Given the description of an element on the screen output the (x, y) to click on. 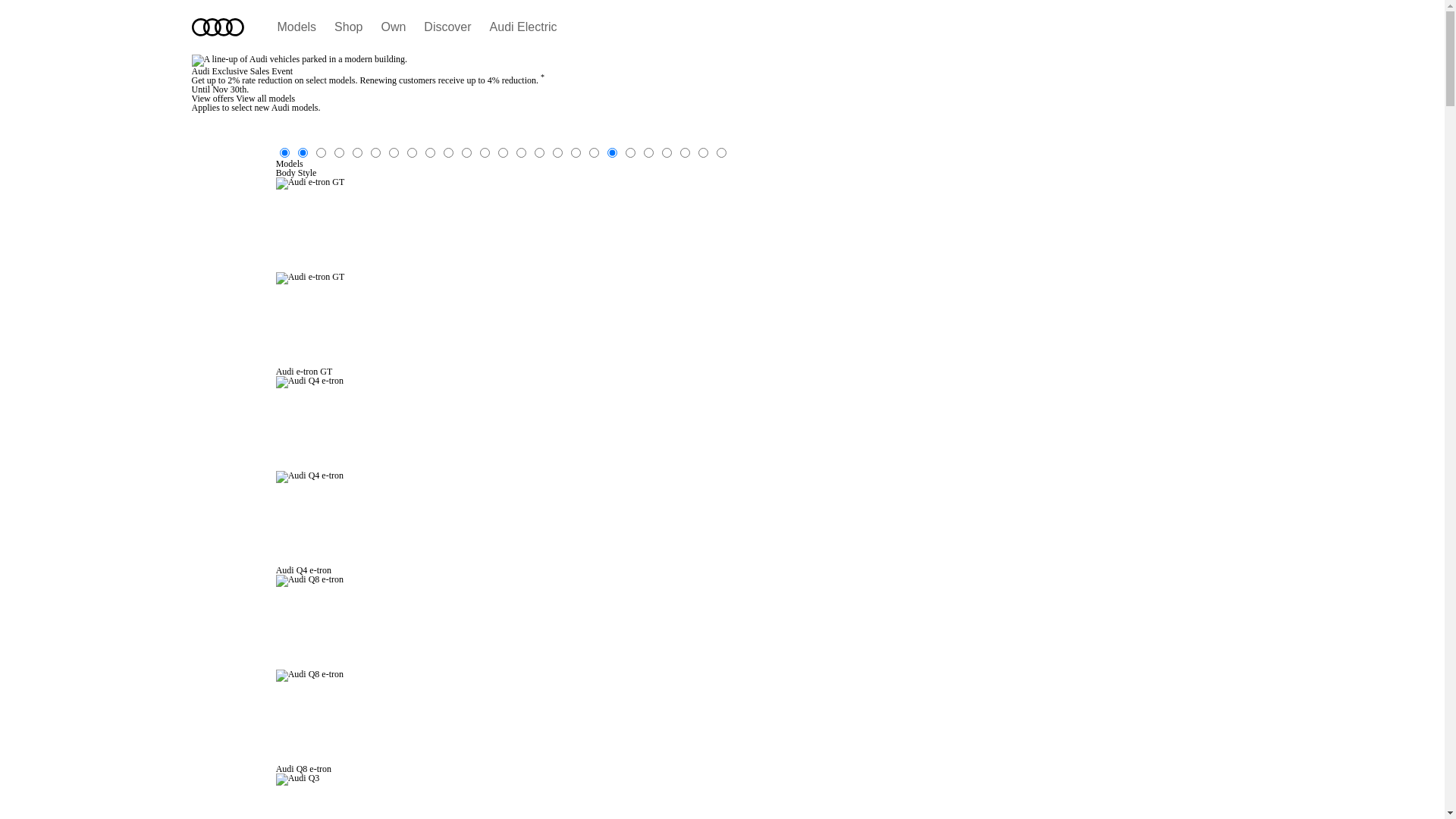
View offers Element type: text (213, 98)
* Element type: text (542, 80)
Shop Element type: text (348, 27)
Audi Electric Element type: text (523, 27)
Discover Element type: text (446, 27)
Models Element type: text (296, 27)
View all models Element type: text (264, 98)
Own Element type: text (392, 27)
